Given the description of an element on the screen output the (x, y) to click on. 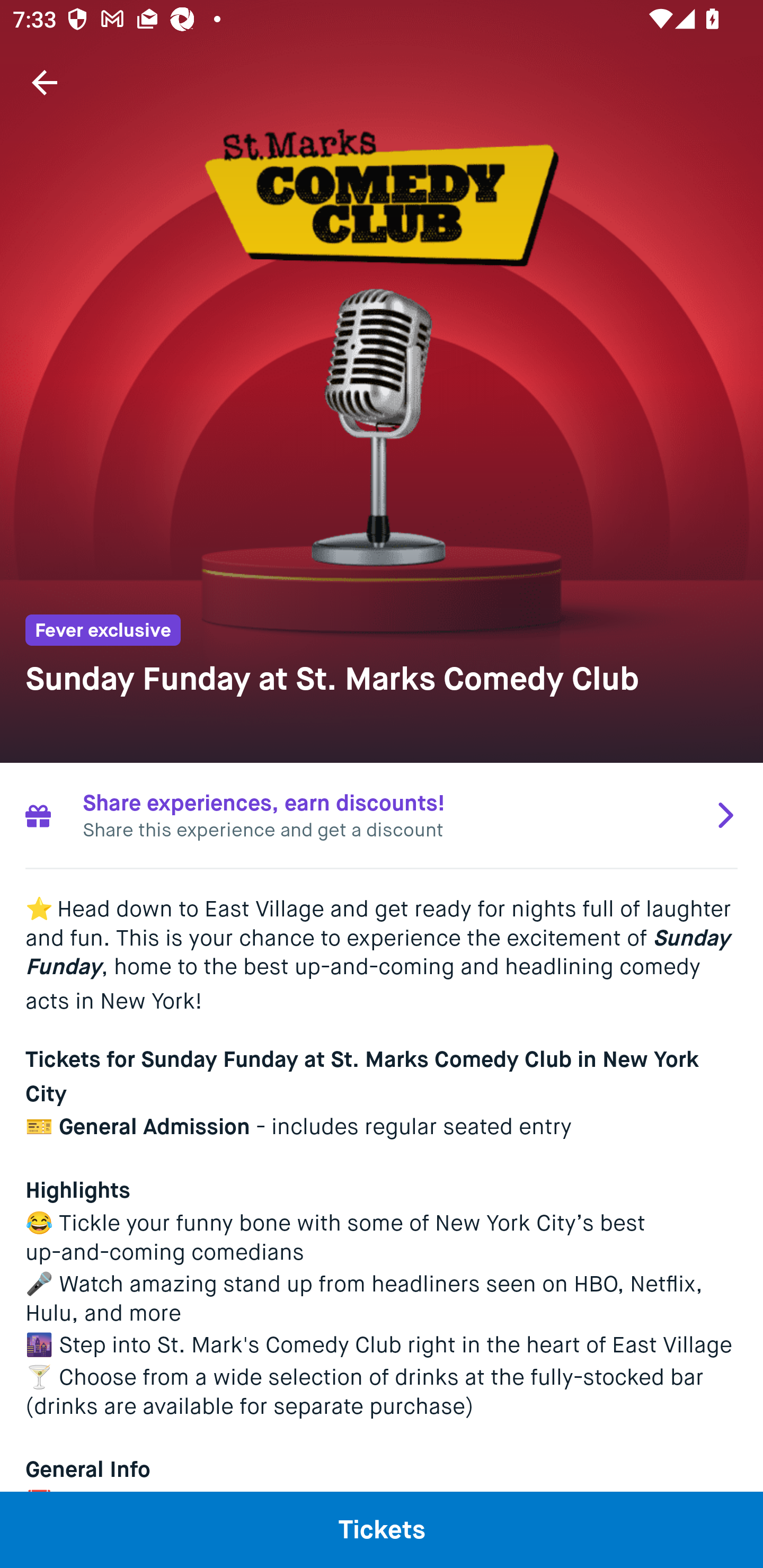
Navigate up (44, 82)
Tickets (381, 1529)
